Given the description of an element on the screen output the (x, y) to click on. 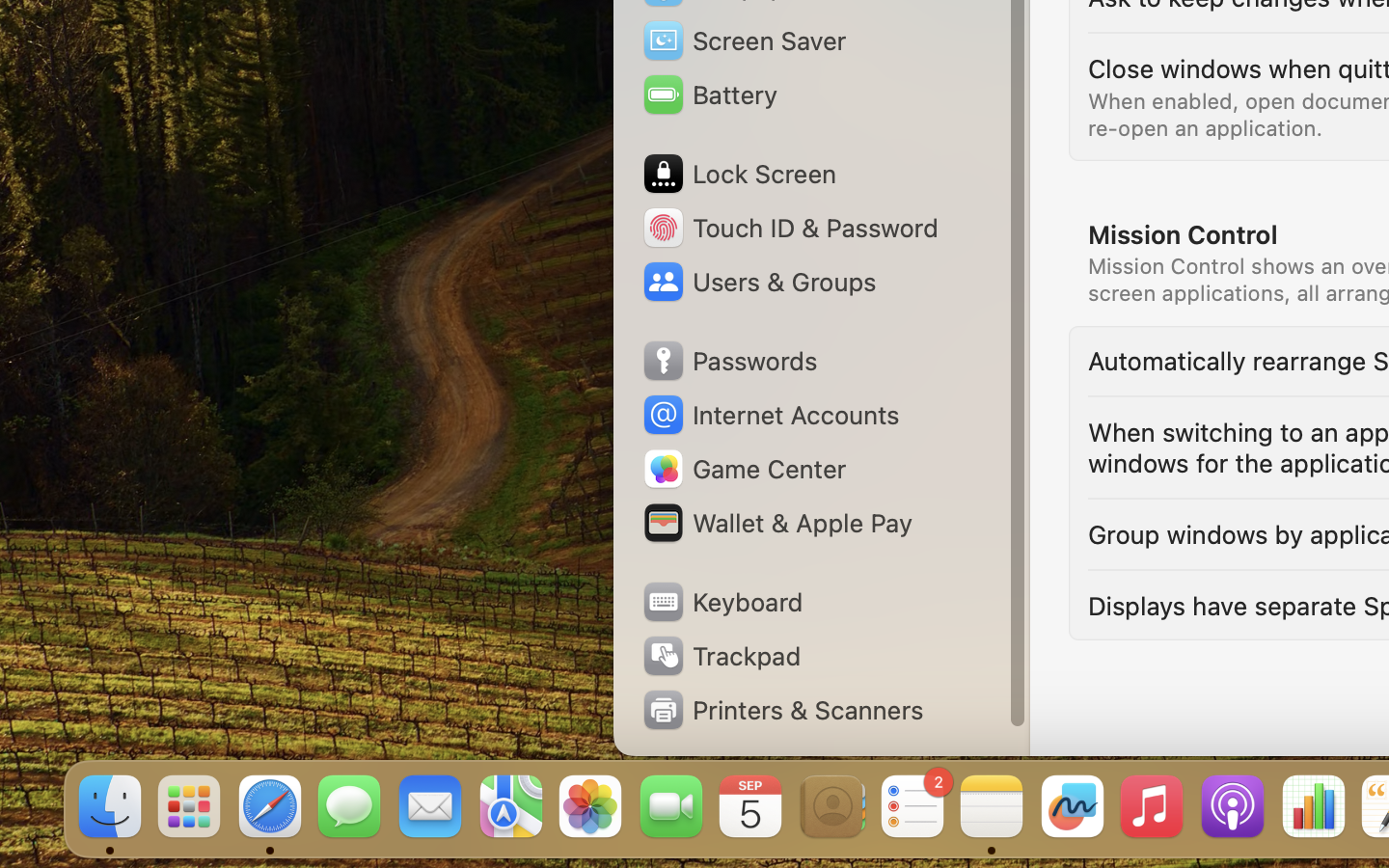
Wallet & Apple Pay Element type: AXStaticText (776, 522)
Lock Screen Element type: AXStaticText (738, 173)
Users & Groups Element type: AXStaticText (757, 281)
Battery Element type: AXStaticText (708, 94)
Screen Saver Element type: AXStaticText (743, 40)
